Given the description of an element on the screen output the (x, y) to click on. 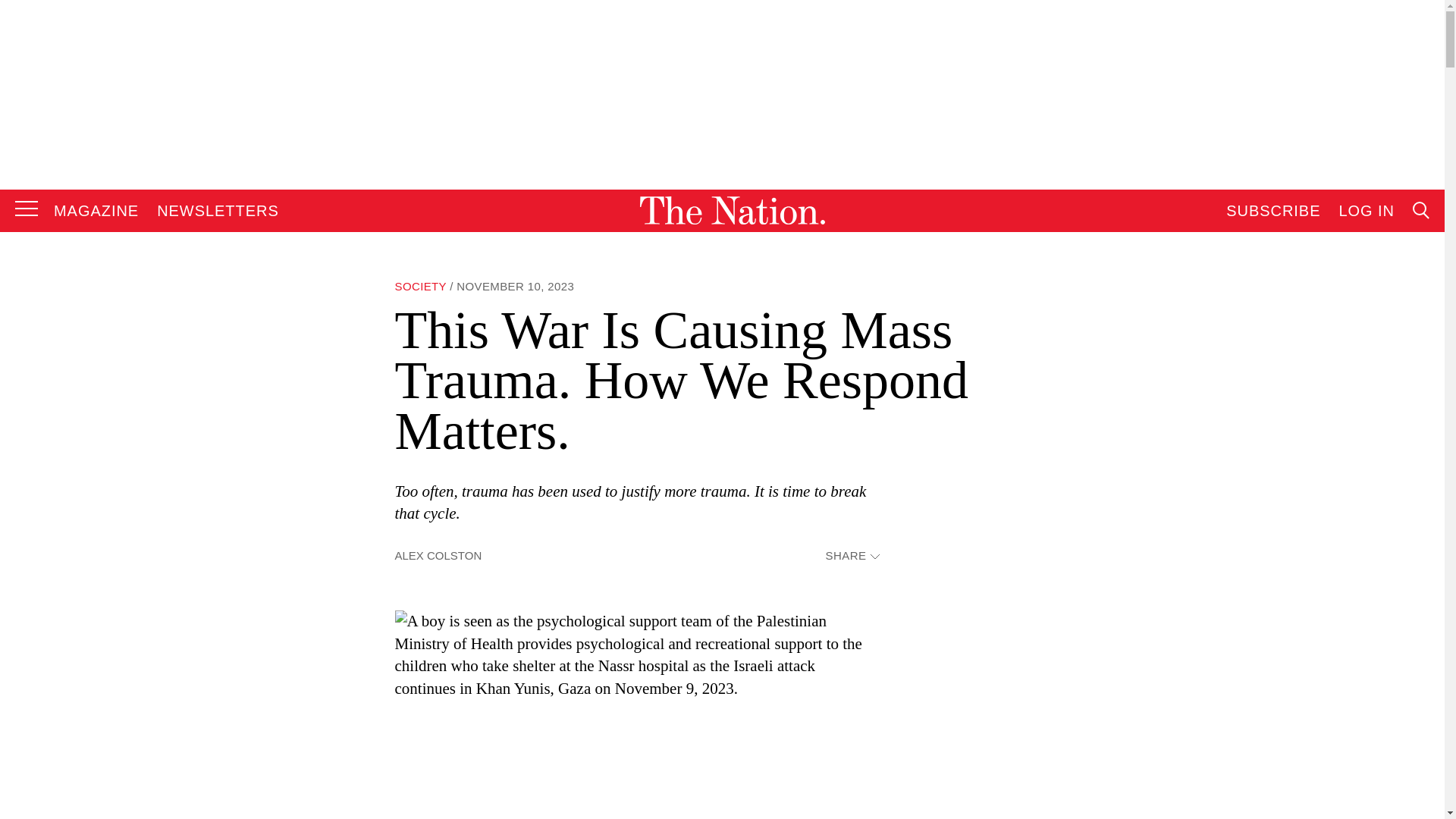
NEWSLETTERS (218, 210)
Search (1278, 364)
LOG IN (1366, 210)
MAGAZINE (95, 210)
SUBSCRIBE (1272, 210)
ALEX COLSTON (437, 554)
SOCIETY (419, 286)
SHARE (852, 555)
